Given the description of an element on the screen output the (x, y) to click on. 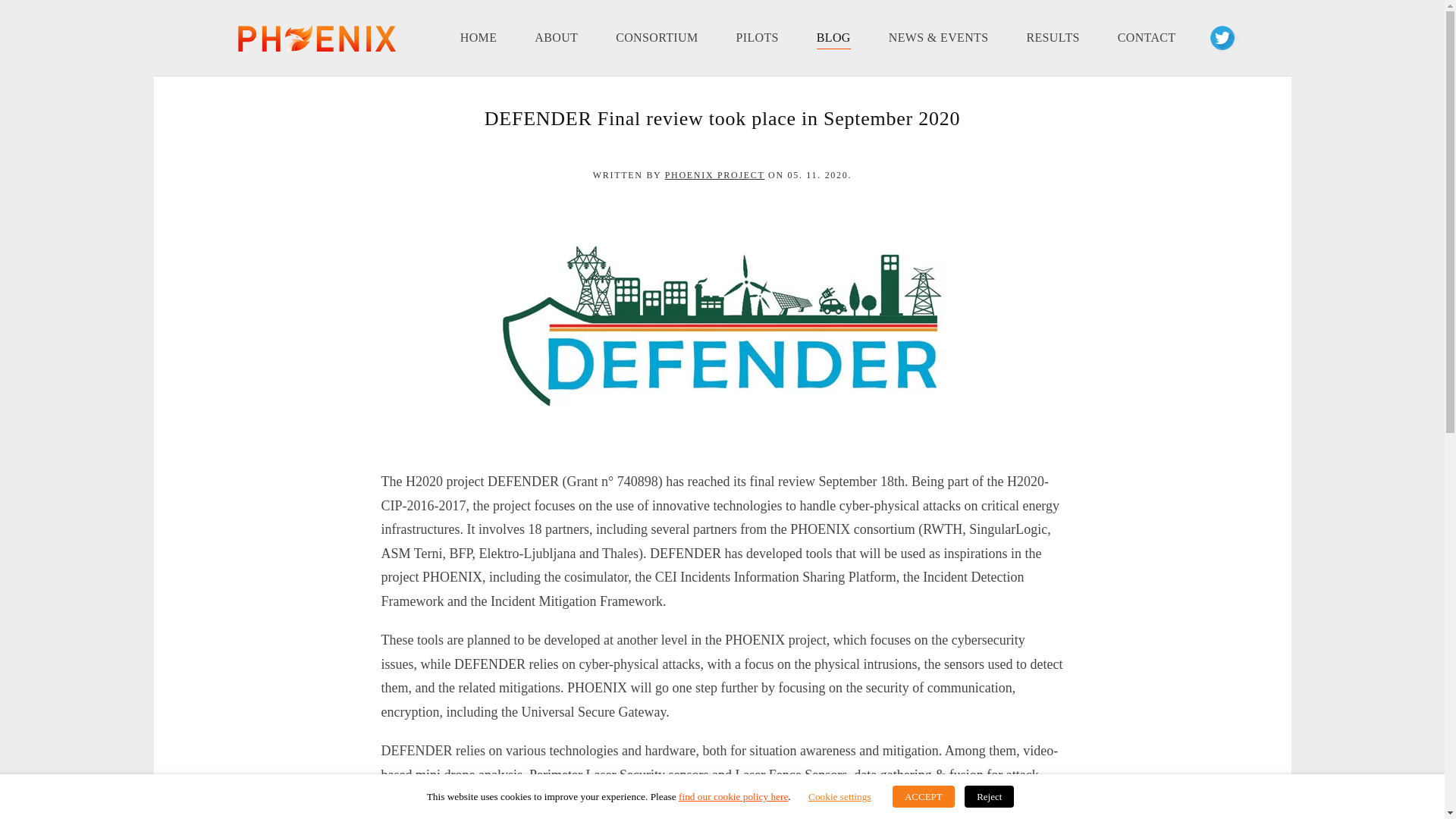
HOME (478, 37)
CONSORTIUM (656, 37)
BLOG (834, 37)
ABOUT (556, 37)
PILOTS (757, 37)
